Given the description of an element on the screen output the (x, y) to click on. 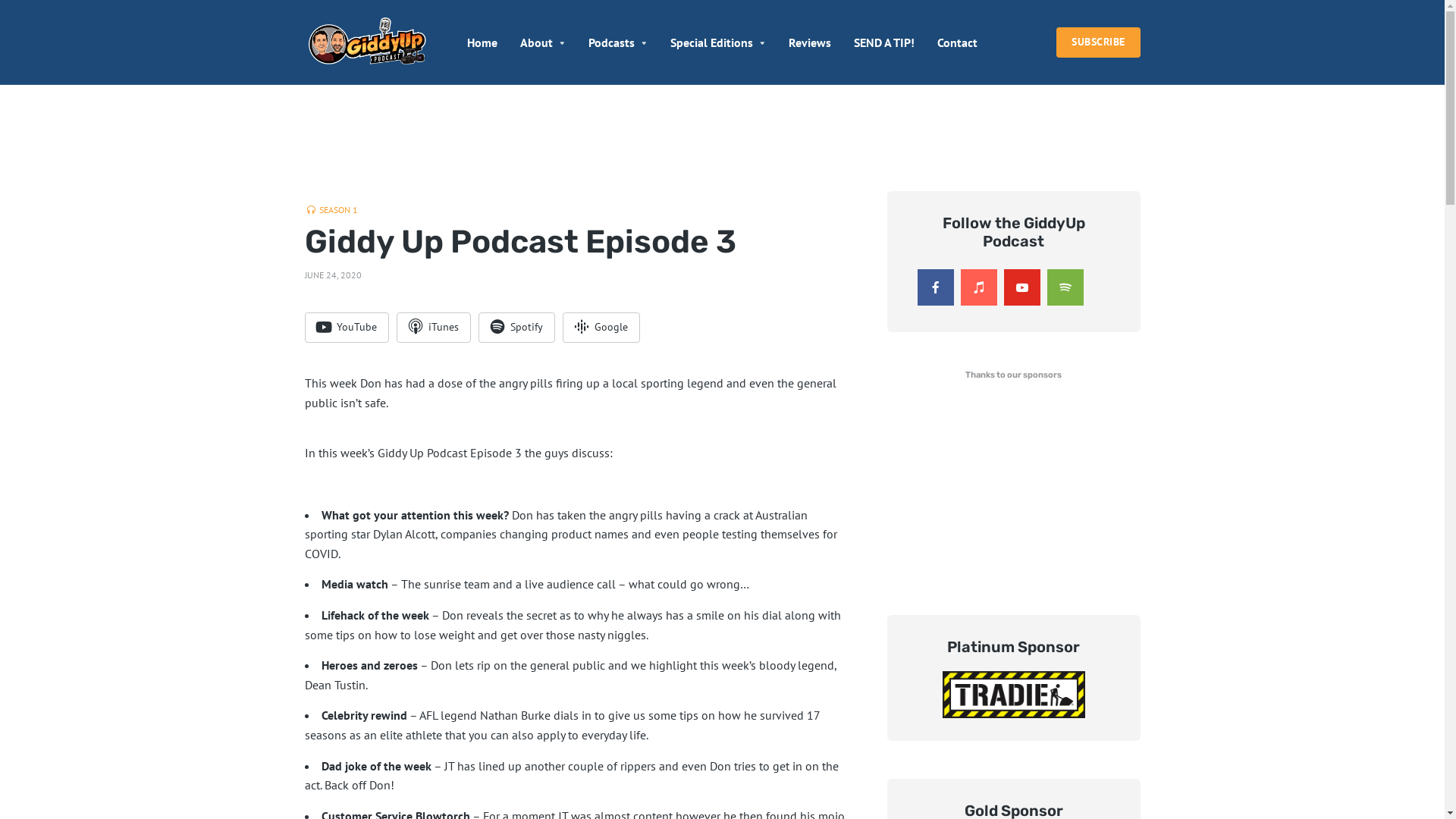
Podcasts Element type: text (617, 42)
Reviews Element type: text (809, 42)
About Element type: text (542, 42)
itunes Element type: text (978, 287)
iTunes Element type: text (432, 327)
Home Element type: text (482, 42)
YouTube Element type: text (346, 327)
SEASON 1 Element type: text (330, 209)
facebook Element type: text (935, 287)
Google Element type: text (601, 327)
youtube Element type: text (1022, 287)
SUBSCRIBE Element type: text (1098, 42)
spotify Element type: text (1064, 287)
SEND A TIP! Element type: text (883, 42)
Contact Element type: text (957, 42)
Spotify Element type: text (515, 327)
Special Editions Element type: text (717, 42)
